Given the description of an element on the screen output the (x, y) to click on. 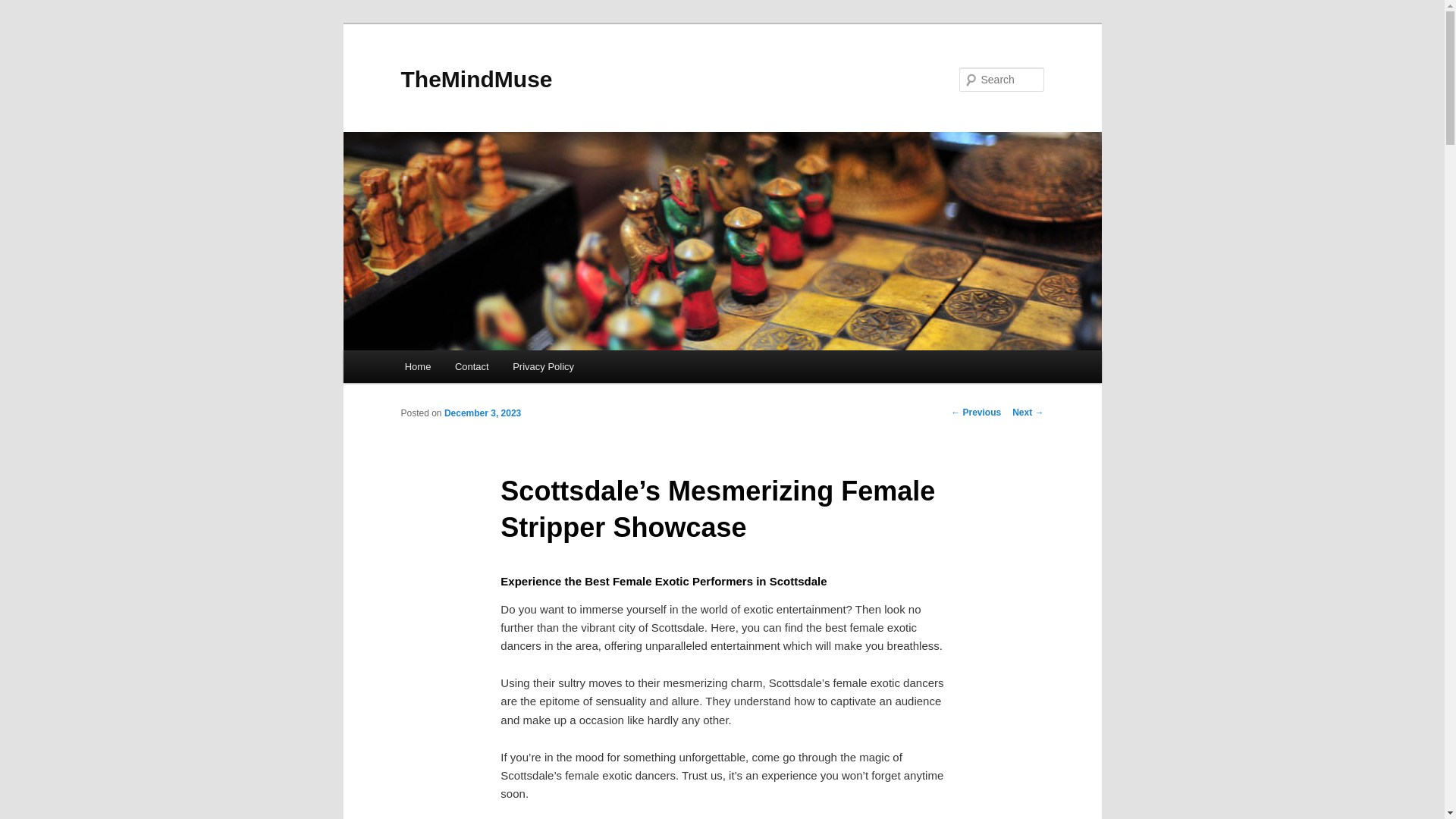
Privacy Policy (542, 366)
TheMindMuse (475, 78)
December 3, 2023 (482, 412)
Home (417, 366)
12:00 am (482, 412)
Search (24, 8)
Contact (471, 366)
